Given the description of an element on the screen output the (x, y) to click on. 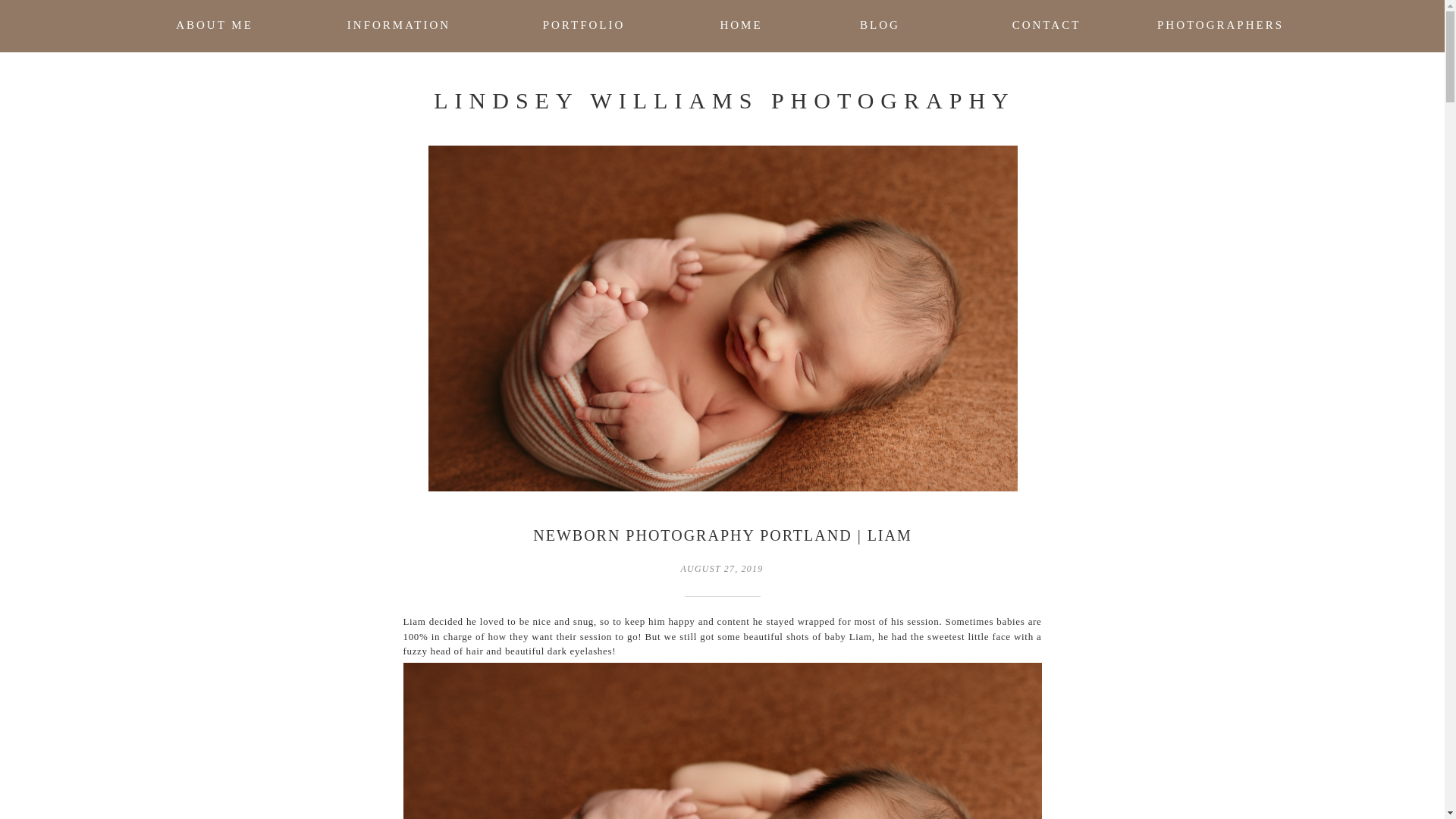
ABOUT ME (213, 26)
INFORMATION (398, 26)
PHOTOGRAPHERS (1220, 26)
BLOG (879, 26)
PORTFOLIO (583, 26)
LINDSEY WILLIAMS PHOTOGRAPHY (724, 100)
CONTACT (1046, 26)
HOME (740, 26)
